Given the description of an element on the screen output the (x, y) to click on. 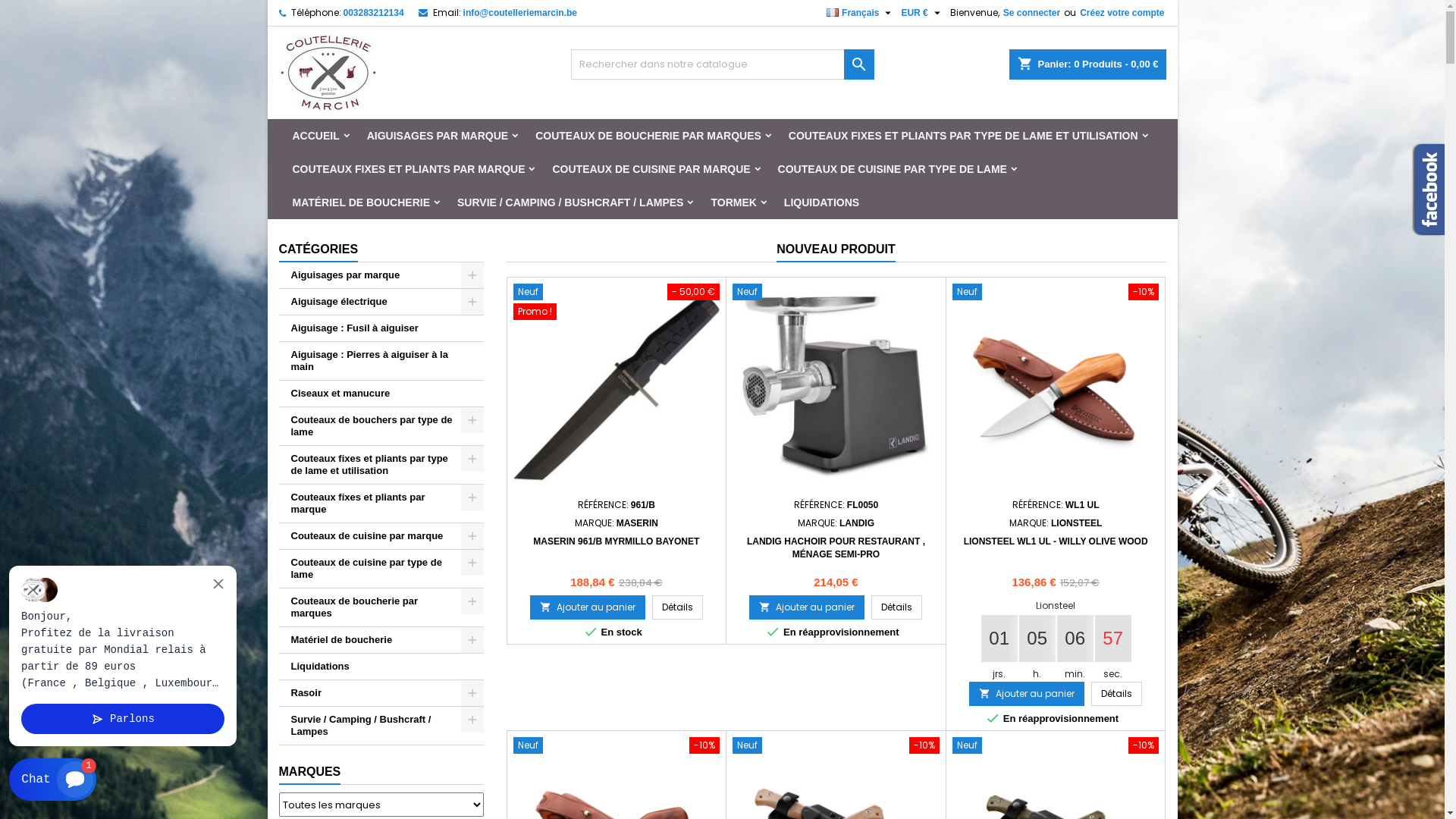
info@coutelleriemarcin.be Element type: text (520, 12)
Neuf Element type: text (835, 293)
LIONSTEEL Element type: text (1076, 522)
SURVIE / CAMPING / BUSHCRAFT / LAMPES Element type: text (569, 202)
Couteaux fixes et pliants par type de lame et utilisation Element type: text (381, 464)
Aiguisages par marque Element type: text (381, 275)
Couteaux de cuisine par marque Element type: text (381, 536)
MASERIN Element type: text (637, 522)
Smartsupp widget popup Element type: hover (122, 655)
LIQUIDATIONS Element type: text (821, 202)
LANDIG Element type: text (856, 522)
-10%
Neuf Element type: text (615, 746)
Smartsupp widget button Element type: hover (52, 779)
LIONSTEEL WL1 UL - WILLY OLIVE WOOD Element type: text (1055, 541)
Survie / Camping / Bushcraft / Lampes Element type: text (381, 725)
COUTEAUX DE BOUCHERIE PAR MARQUES Element type: text (648, 135)
MASERIN 961/B MYRMILLO BAYONET Element type: text (616, 541)
COUTEAUX FIXES ET PLIANTS PAR TYPE DE LAME ET UTILISATION Element type: text (963, 135)
TORMEK Element type: text (732, 202)
-10%
Neuf Element type: text (835, 746)
COUTEAUX DE CUISINE PAR MARQUE Element type: text (650, 168)
-10%
Neuf Element type: text (1055, 293)
AIGUISAGES PAR MARQUE Element type: text (437, 135)
Couteaux de boucherie par marques Element type: text (381, 607)
COUTEAUX FIXES ET PLIANTS PAR MARQUE Element type: text (409, 168)
Couteaux fixes et pliants par marque Element type: text (381, 503)
Couteaux de bouchers par type de lame Element type: text (381, 426)
ACCUEIL Element type: text (316, 135)
NOUVEAU PRODUIT Element type: text (835, 250)
Liquidations Element type: text (381, 666)
Couteaux de cuisine par type de lame Element type: text (381, 568)
Rasoir Element type: text (381, 693)
COUTEAUX DE CUISINE PAR TYPE DE LAME Element type: text (892, 168)
Se connecter Element type: text (1031, 12)
-10%
Neuf Element type: text (1055, 746)
Ciseaux et manucure Element type: text (381, 393)
